Given the description of an element on the screen output the (x, y) to click on. 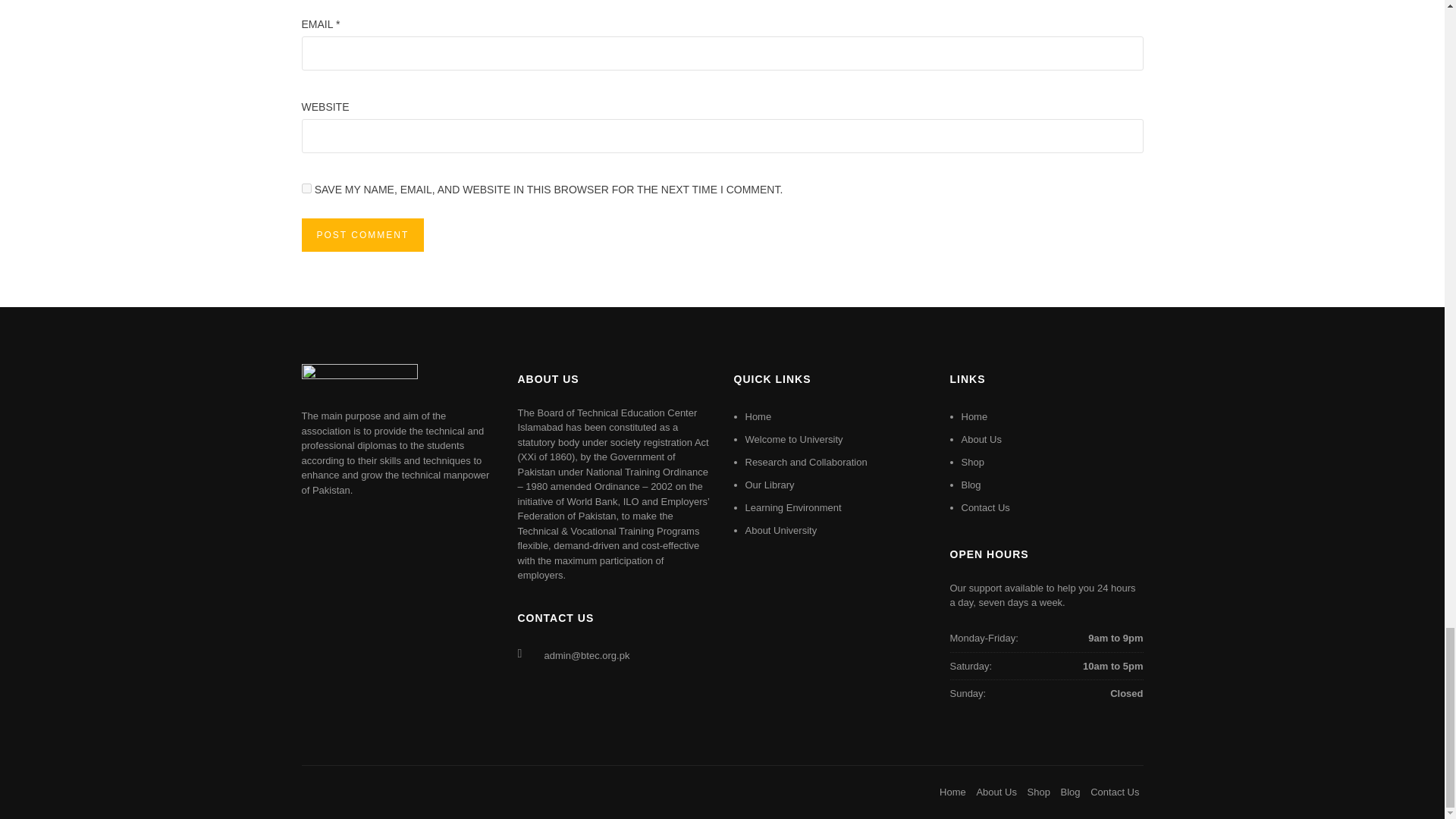
About Us (995, 791)
About Us (980, 439)
Shop (1038, 791)
Our Library (768, 484)
yes (306, 188)
Blog (970, 484)
Shop (972, 461)
Home (974, 416)
Welcome to University (793, 439)
About University (780, 530)
